Given the description of an element on the screen output the (x, y) to click on. 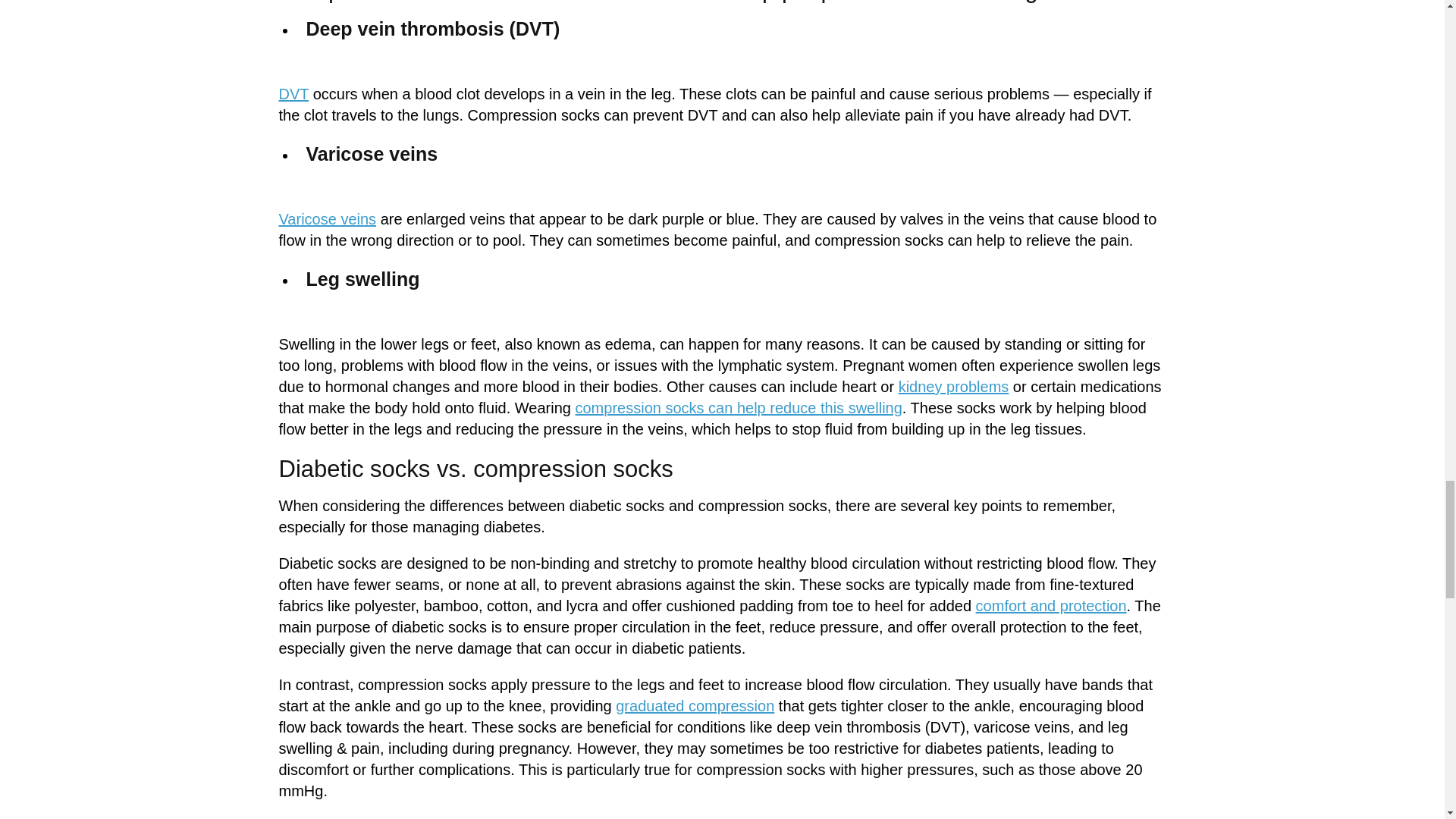
graduated compression (694, 705)
compression socks can help reduce this swelling (738, 407)
kidney problems (953, 386)
comfort and protection (1050, 605)
DVT (293, 93)
Varicose veins (328, 218)
Venous Thromboembolism (293, 93)
